Given the description of an element on the screen output the (x, y) to click on. 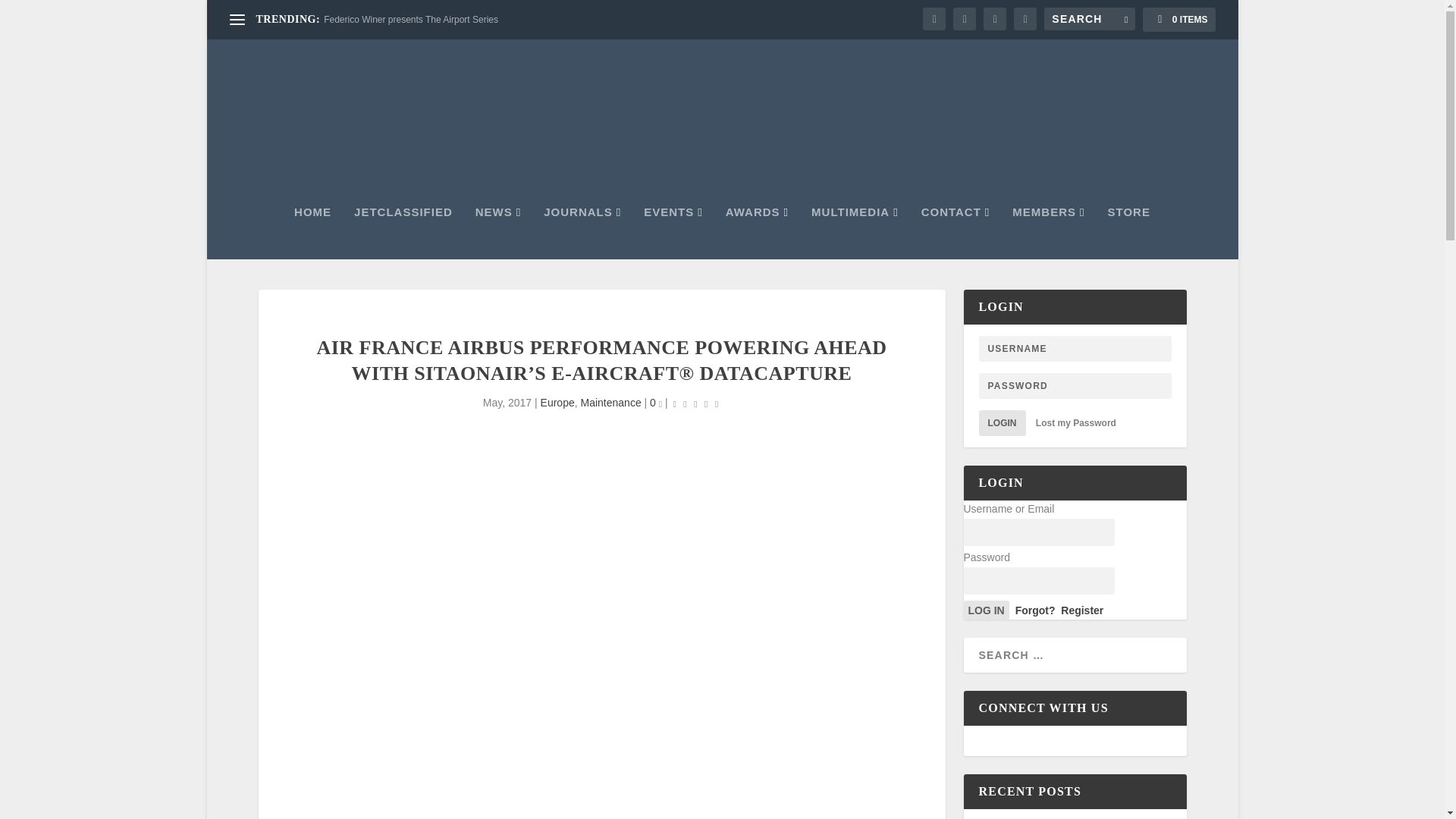
JETCLASSIFIED (402, 232)
Federico Winer presents The Airport Series (410, 19)
Rating: 0.00 (695, 403)
log in (985, 609)
JOURNALS (582, 232)
